Given the description of an element on the screen output the (x, y) to click on. 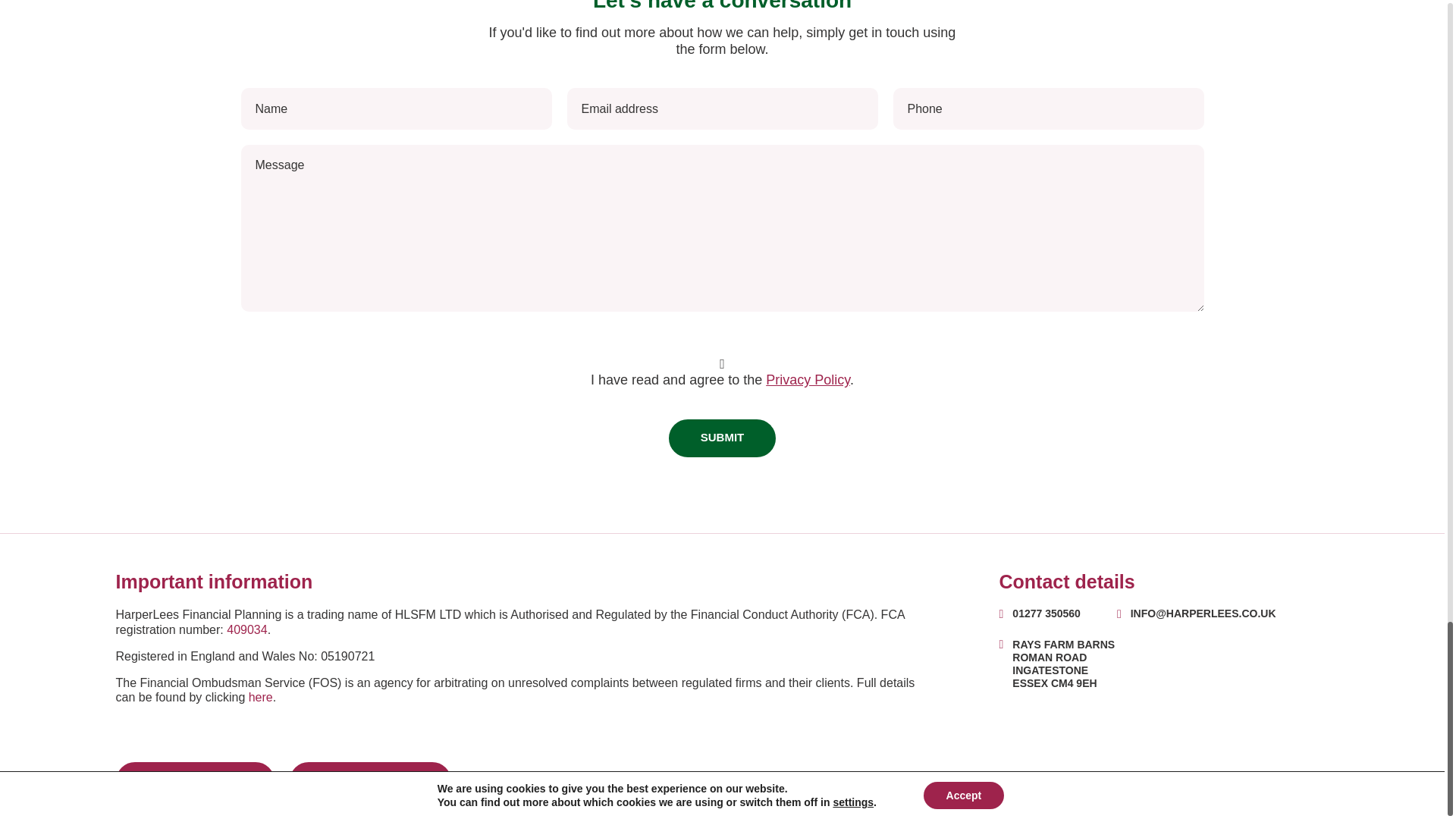
The Yardstick Agency (1289, 793)
